Given the description of an element on the screen output the (x, y) to click on. 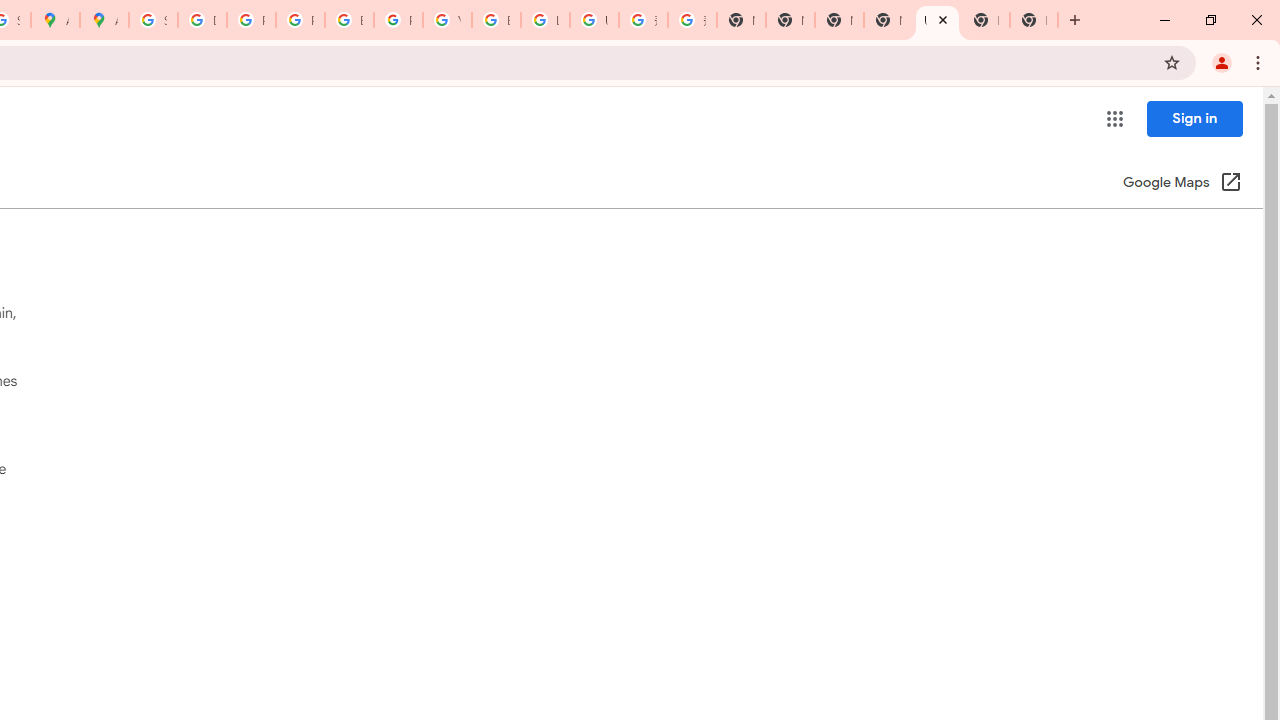
Privacy Help Center - Policies Help (300, 20)
New Tab (985, 20)
New Tab (1033, 20)
Google Maps (Open in a new window) (1182, 183)
